Given the description of an element on the screen output the (x, y) to click on. 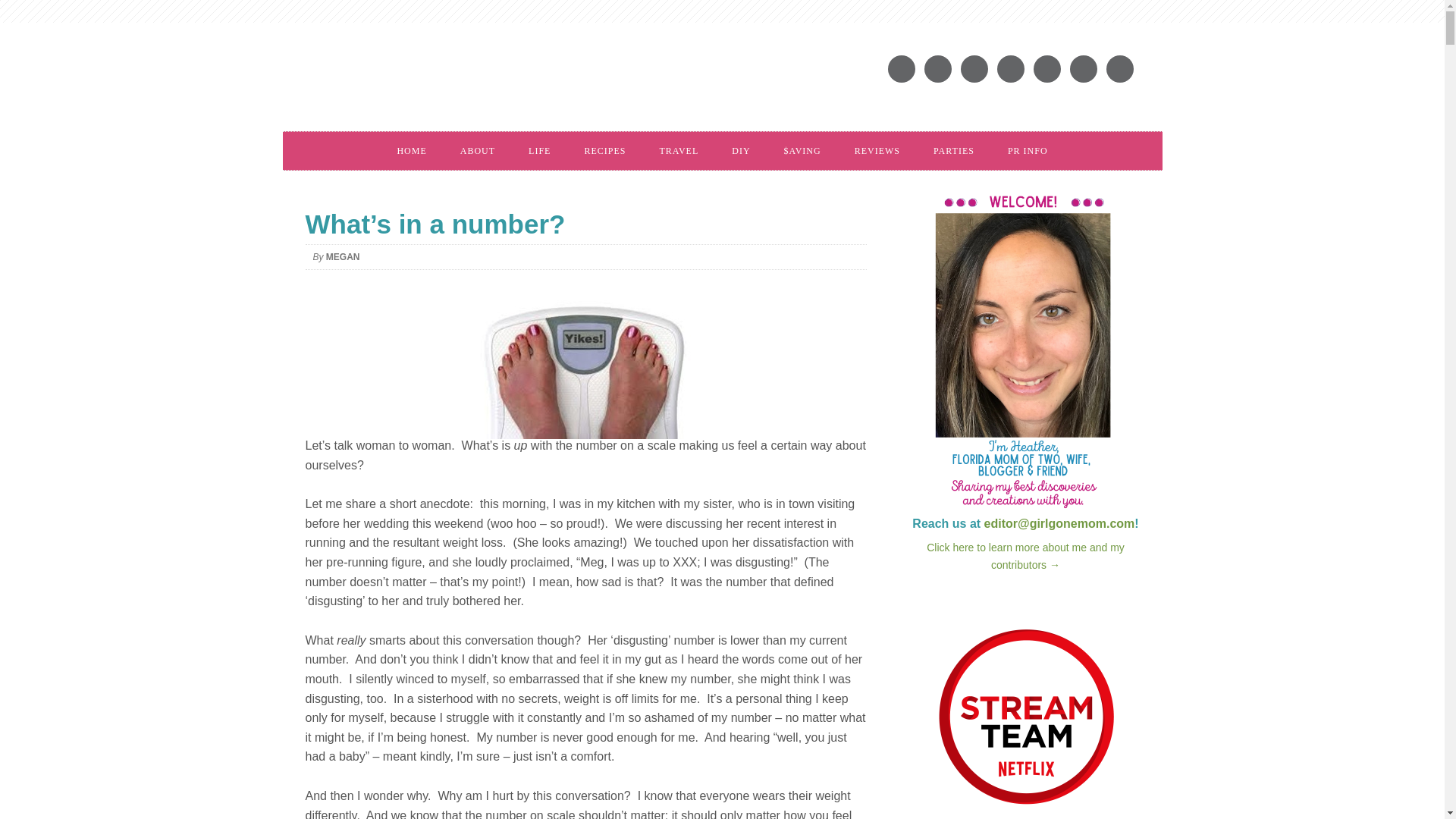
HOME (411, 150)
YikesScale (584, 363)
RECIPES (604, 150)
LIFE (539, 150)
Girl Gone Mom (509, 82)
ABOUT (478, 150)
TRAVEL (678, 150)
DIY (740, 150)
